Given the description of an element on the screen output the (x, y) to click on. 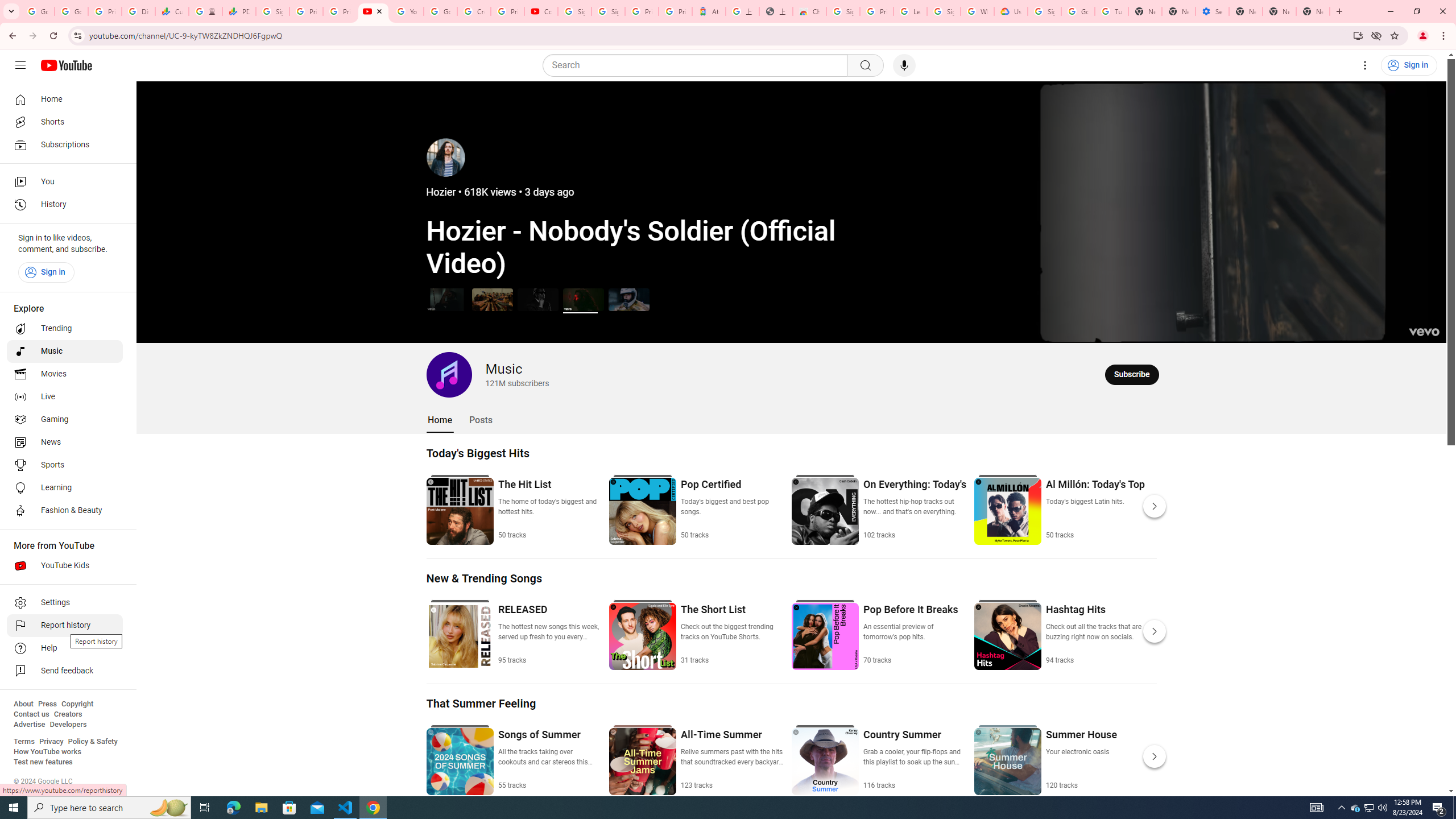
New & Trending Songs (484, 578)
YouTube (406, 11)
Settings - Addresses and more (1212, 11)
News (64, 441)
Sign in - Google Accounts (272, 11)
Sign in - Google Accounts (1043, 11)
